Given the description of an element on the screen output the (x, y) to click on. 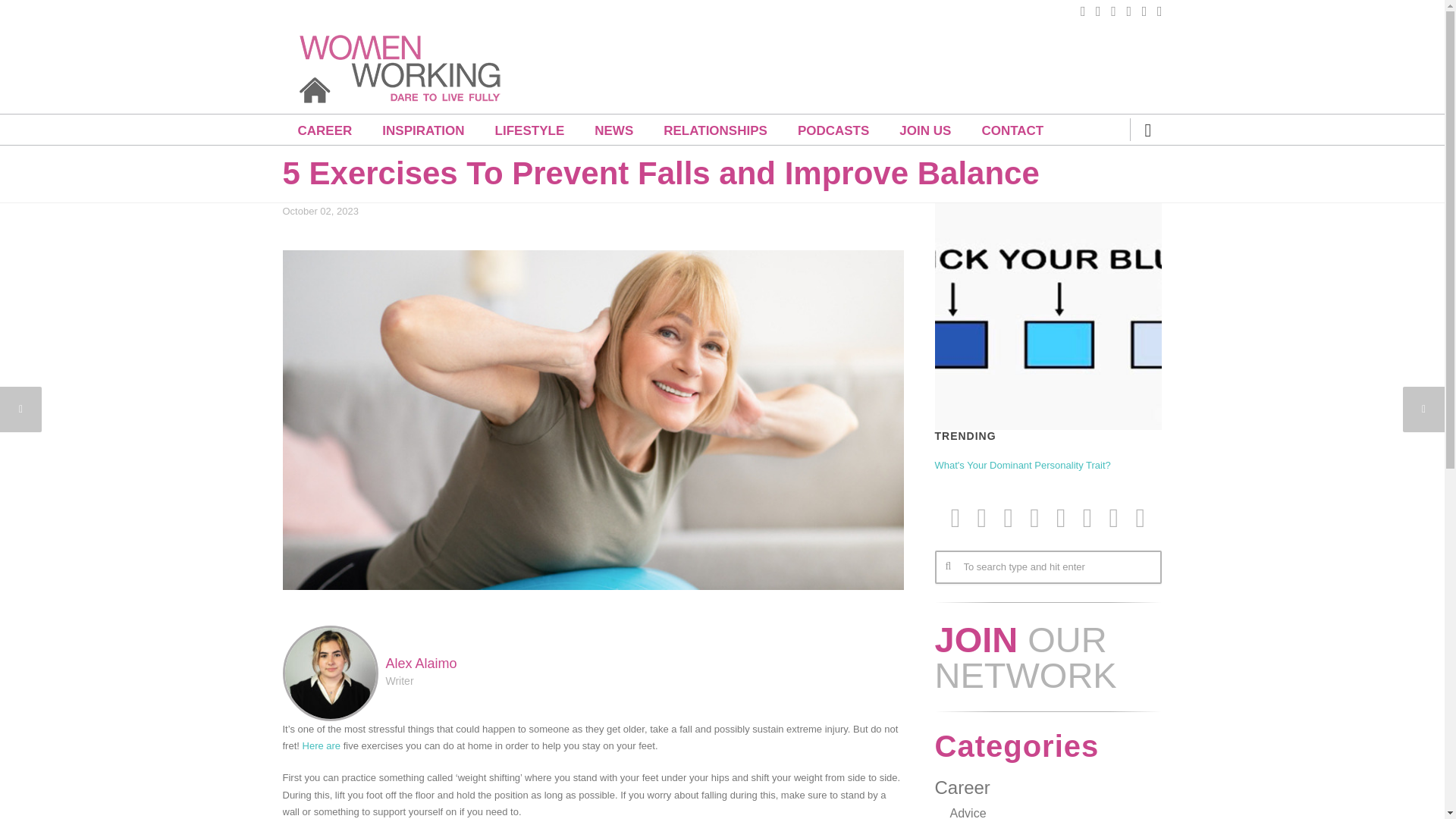
LIFESTYLE (529, 131)
To search type and hit enter (1047, 567)
INSPIRATION (422, 131)
PODCASTS (833, 131)
CAREER (324, 131)
NEWS (613, 131)
CONTACT (1012, 131)
RELATIONSHIPS (715, 131)
JOIN US (924, 131)
